Given the description of an element on the screen output the (x, y) to click on. 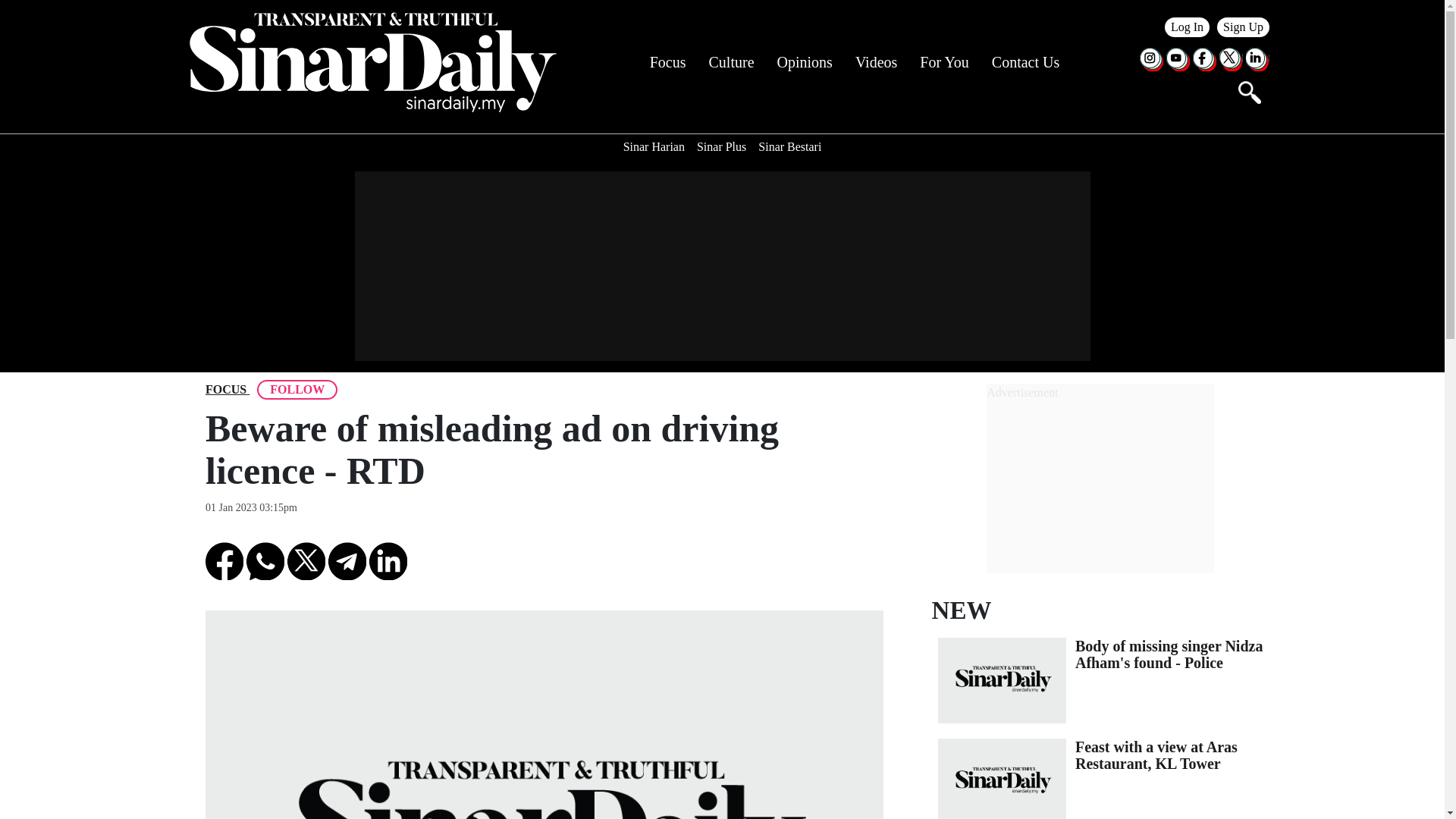
Opinions (804, 62)
Culture (731, 62)
Share on LinkedIn (388, 560)
Focus (667, 62)
Focus (225, 389)
Share on Telegram (347, 560)
Log In (1186, 26)
Sinar Bestari (789, 146)
Sign Up (1243, 26)
Sinar Plus (721, 146)
